Given the description of an element on the screen output the (x, y) to click on. 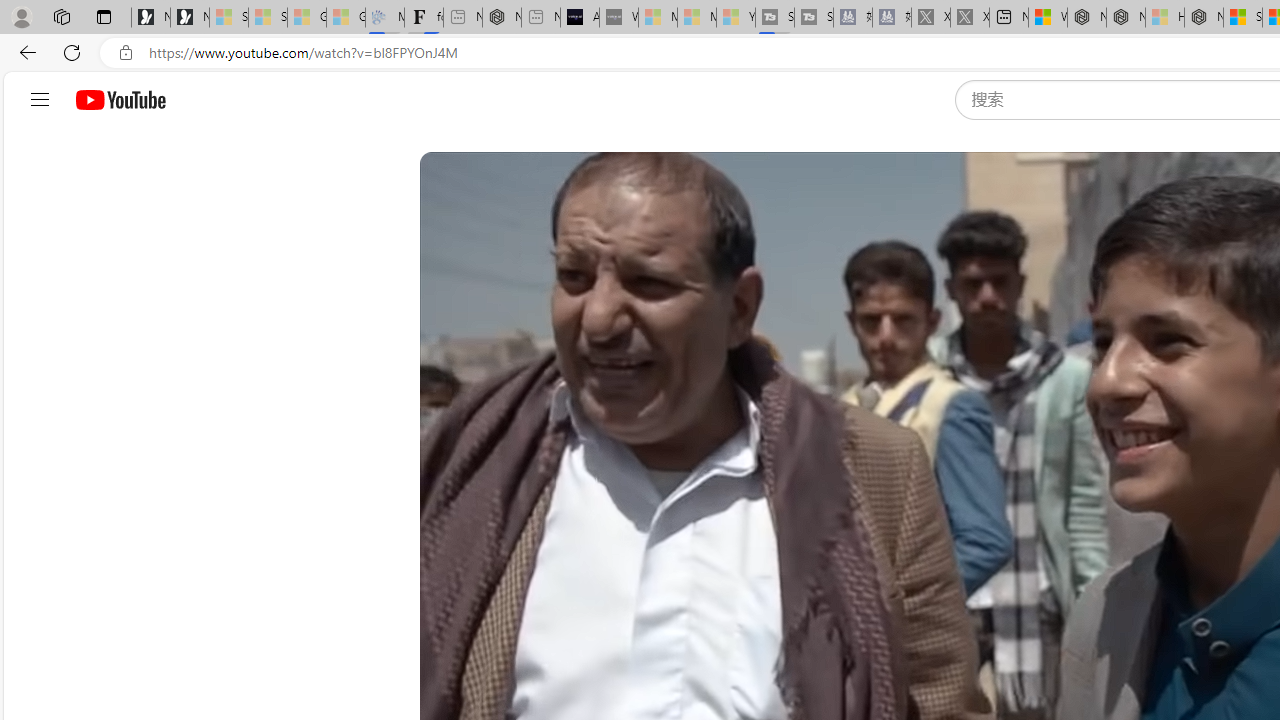
What's the best AI voice generator? - voice.ai - Sleeping (618, 17)
Nordace - Nordace Siena Is Not An Ordinary Backpack (1203, 17)
Microsoft Start - Sleeping (696, 17)
AI Voice Changer for PC and Mac - Voice.ai (579, 17)
Newsletter Sign Up (189, 17)
Microsoft Start Sports - Sleeping (657, 17)
